Given the description of an element on the screen output the (x, y) to click on. 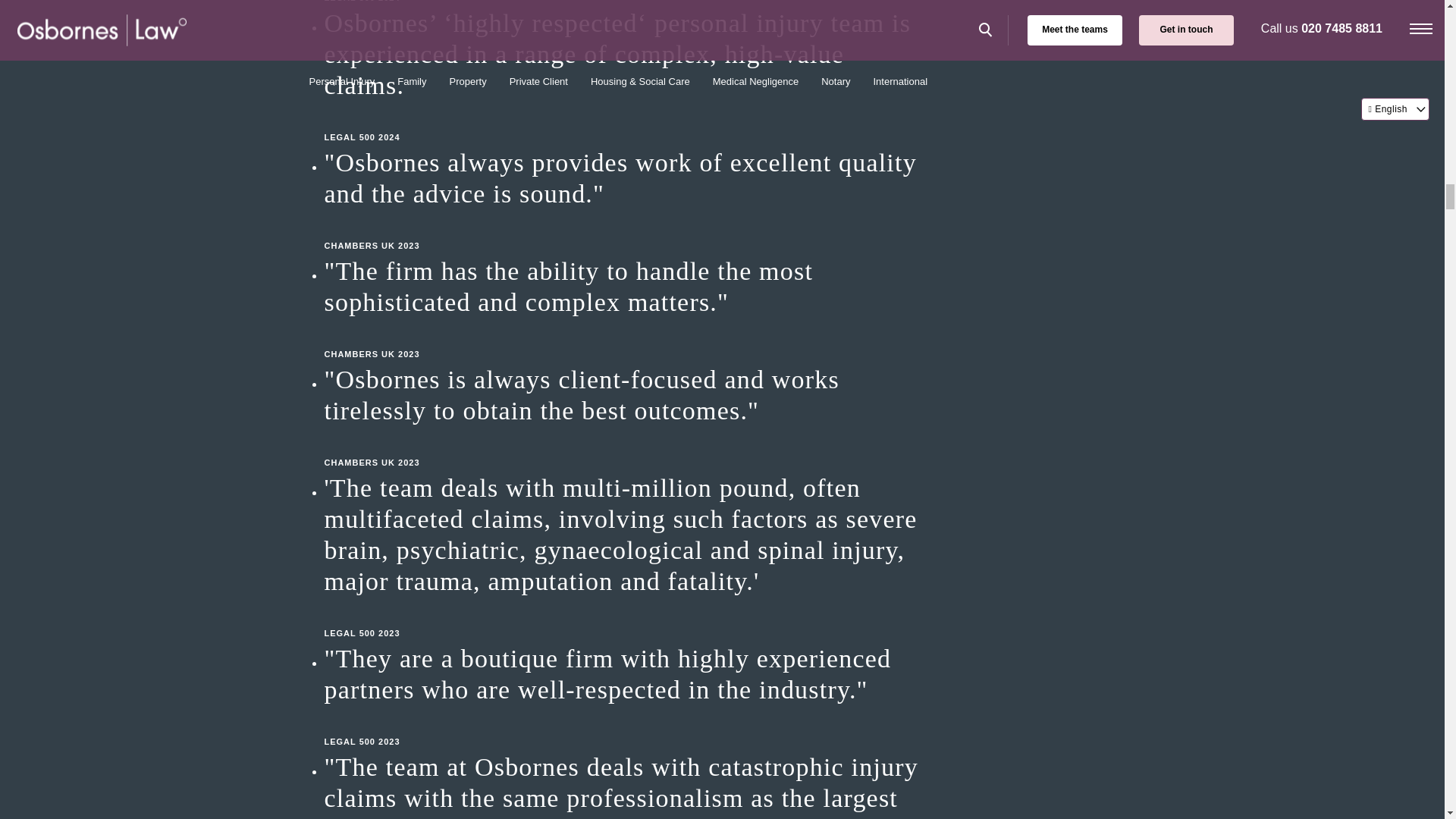
LEGAL 500 2023 (627, 618)
LEGAL 500 2024 (627, 121)
CHAMBERS UK 2023 (627, 446)
LEGAL 500 2023 (627, 726)
CHAMBERS UK 2023 (627, 230)
CHAMBERS UK 2023 (627, 338)
